Given the description of an element on the screen output the (x, y) to click on. 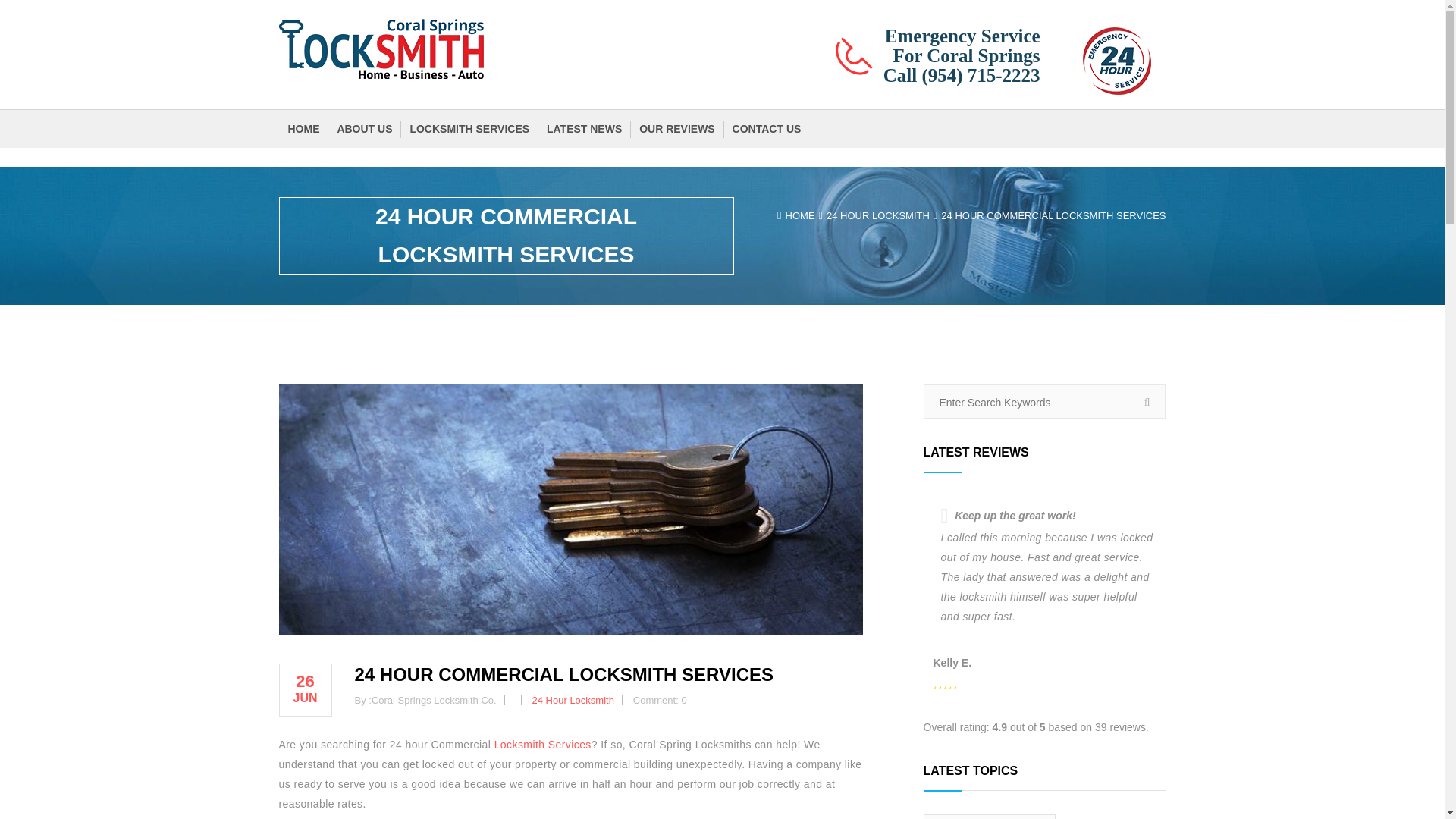
24 Hour Locksmith (573, 699)
CONTACT US (766, 128)
24 HOUR LOCKSMITH (878, 215)
HOME (800, 215)
HOME (301, 128)
OUR REVIEWS (676, 128)
OUR REVIEWS (675, 128)
LOCKSMITH SERVICES (469, 128)
ABOUT US (362, 128)
CONTACT US (764, 128)
Search for: (1043, 401)
LATEST NEWS (582, 128)
HOME (304, 128)
Locksmith Services (543, 744)
LATEST NEWS (583, 128)
